Given the description of an element on the screen output the (x, y) to click on. 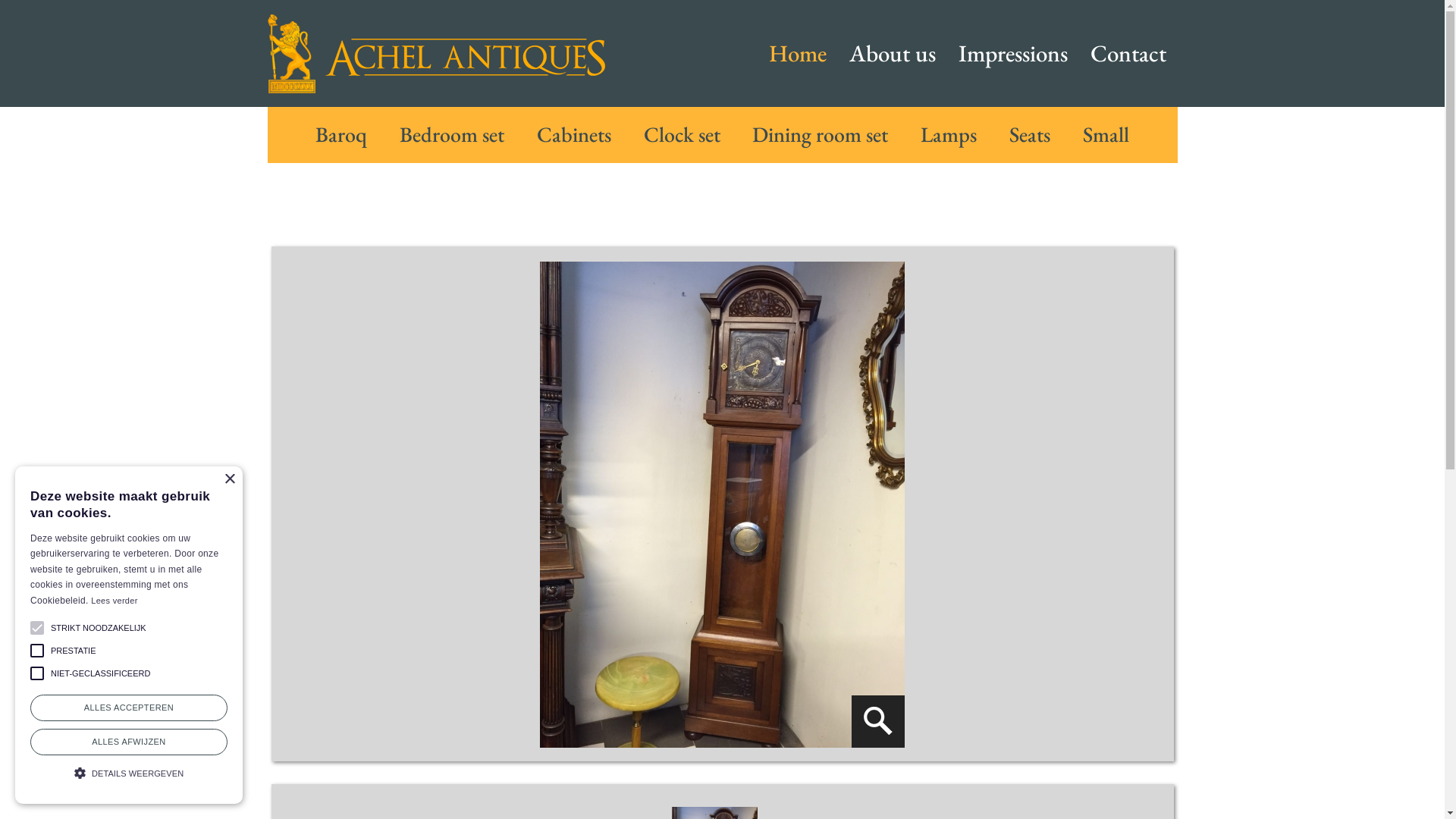
Home Element type: text (796, 53)
Dining room set Element type: text (820, 133)
About us Element type: text (891, 53)
Baroq Element type: text (341, 133)
Lamps Element type: text (948, 133)
Impressions Element type: text (1012, 53)
Seats Element type: text (1029, 133)
Lees verder Element type: text (114, 600)
Cabinets Element type: text (573, 133)
Bedroom set Element type: text (451, 133)
Clock set Element type: text (681, 133)
Contact Element type: text (1127, 53)
Small Element type: text (1105, 133)
